Given the description of an element on the screen output the (x, y) to click on. 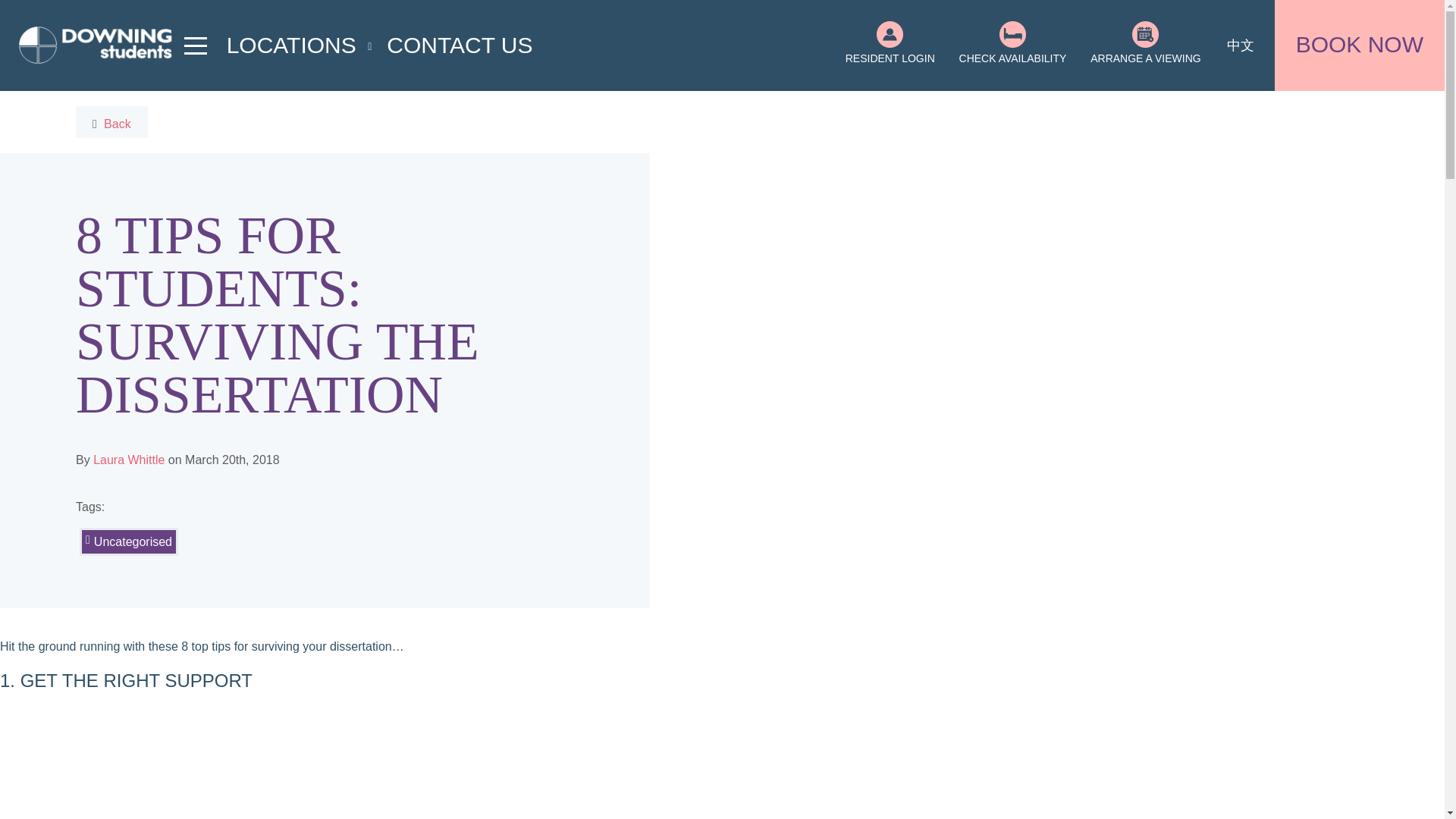
RESIDENT LOGIN (889, 47)
TOGGLE NAVIGATION (195, 45)
ARRANGE A VIEWING (1145, 47)
CHECK AVAILABILITY (1012, 47)
BOOK NOW (1359, 45)
CONTACT US (459, 43)
